Given the description of an element on the screen output the (x, y) to click on. 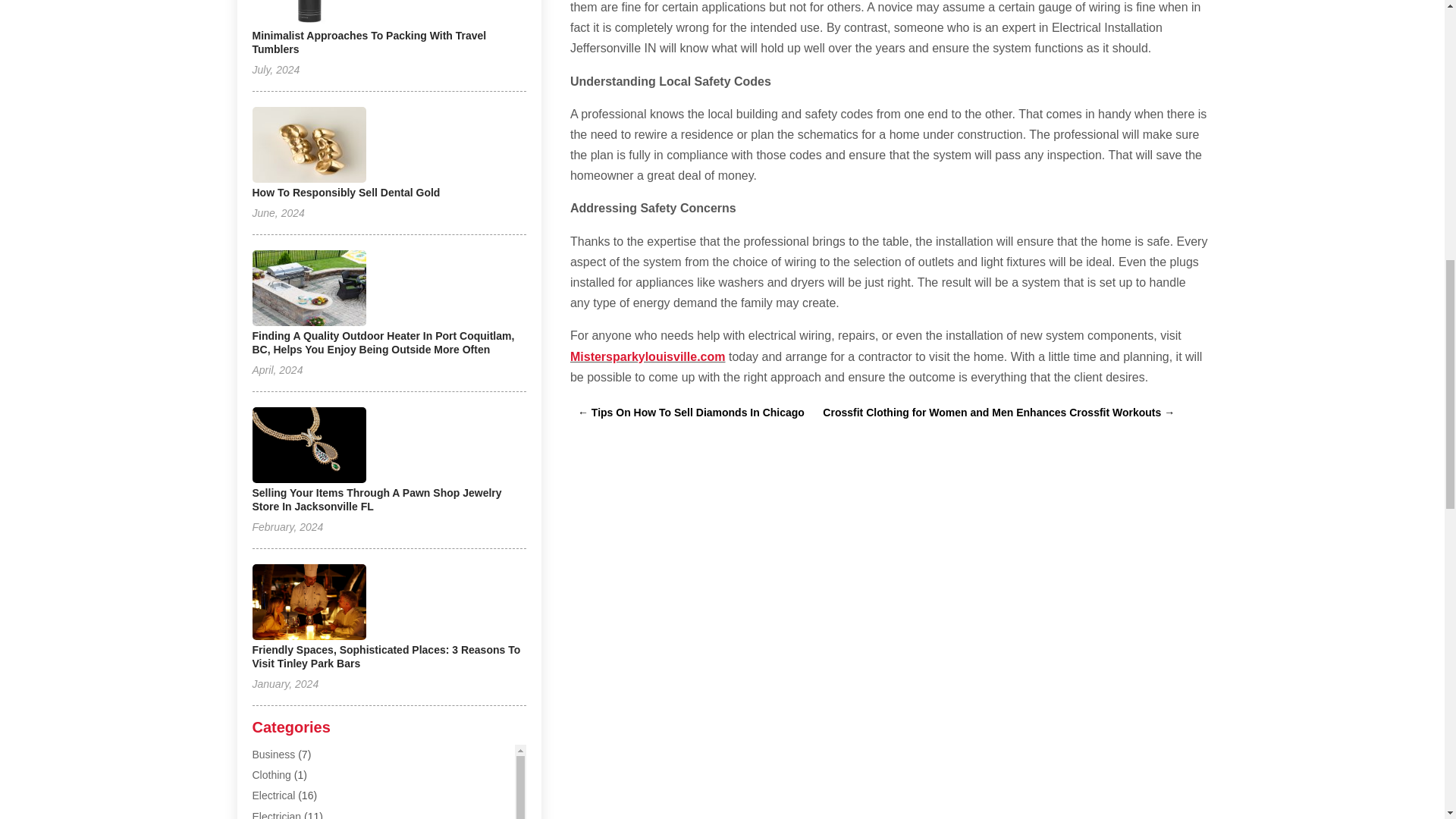
Clothing (270, 775)
How To Responsibly Sell Dental Gold (345, 192)
Minimalist Approaches To Packing With Travel Tumblers (368, 42)
Business (273, 754)
Electrical (273, 795)
Electrician (276, 814)
